Given the description of an element on the screen output the (x, y) to click on. 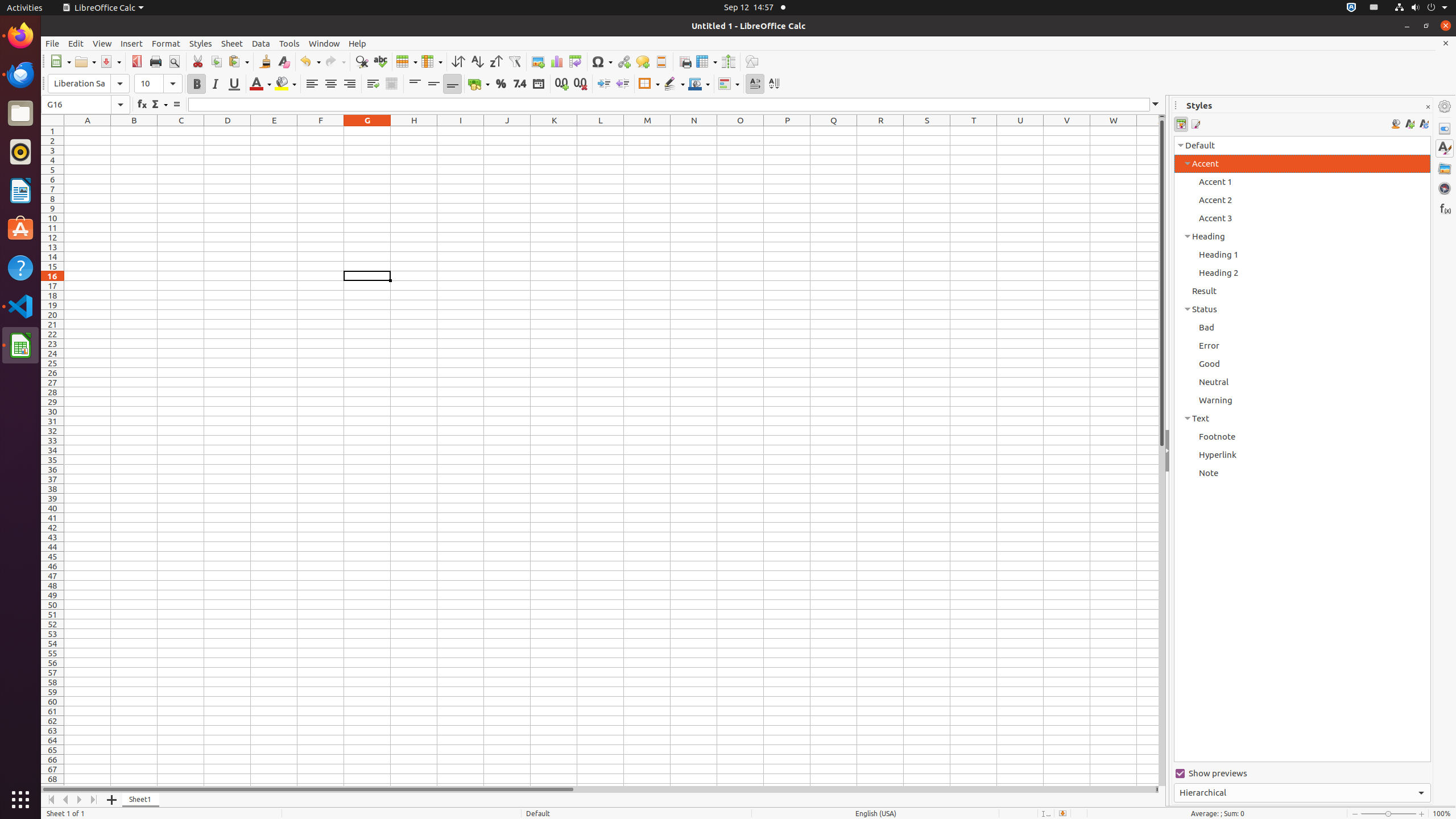
Background Color Element type: push-button (285, 83)
System Element type: menu (1420, 7)
AutoFilter Element type: push-button (514, 61)
P1 Element type: table-cell (786, 130)
